Given the description of an element on the screen output the (x, y) to click on. 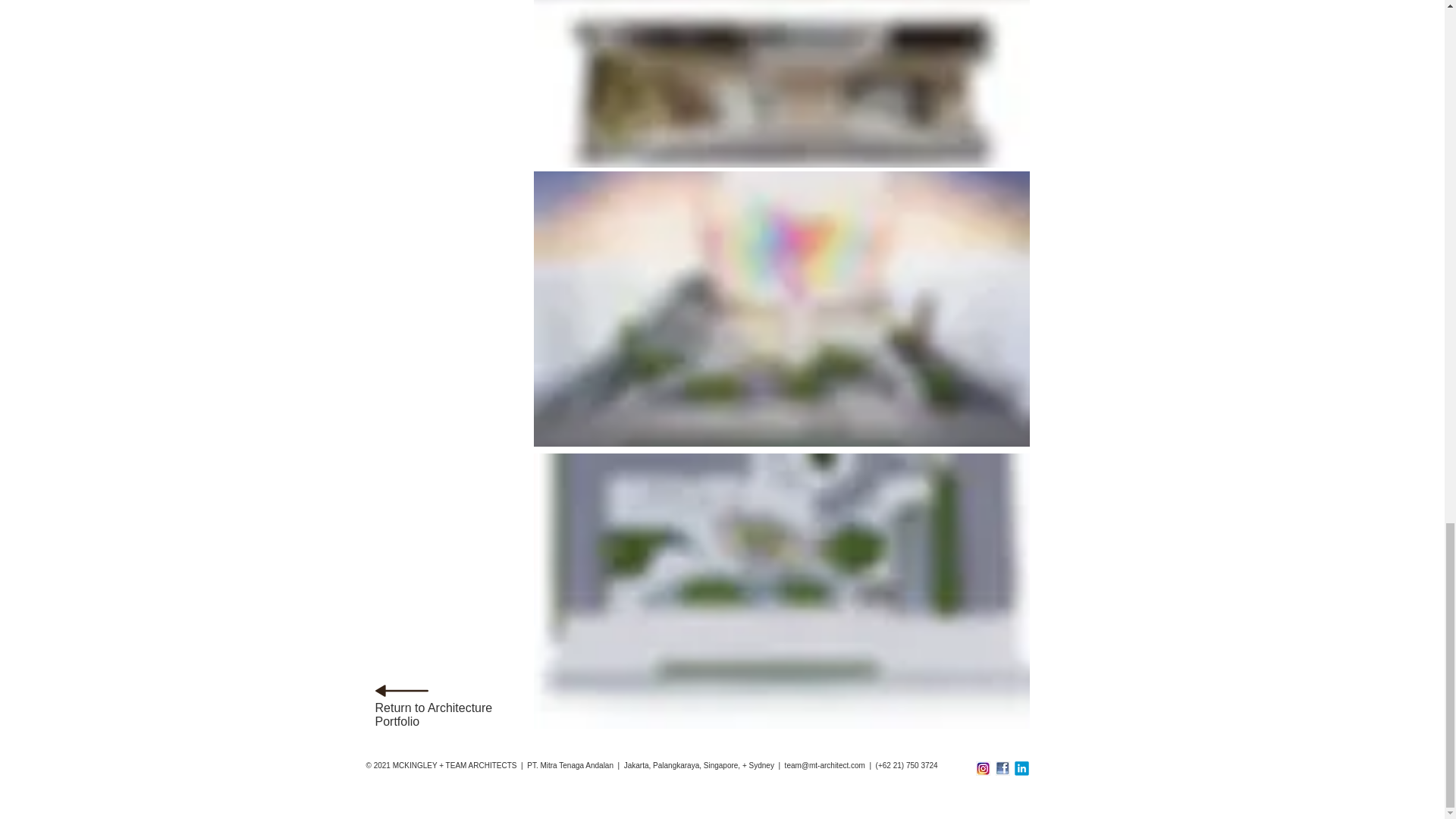
Return to Architecture Portfolio (433, 714)
instagram sml.jpg (982, 768)
